Given the description of an element on the screen output the (x, y) to click on. 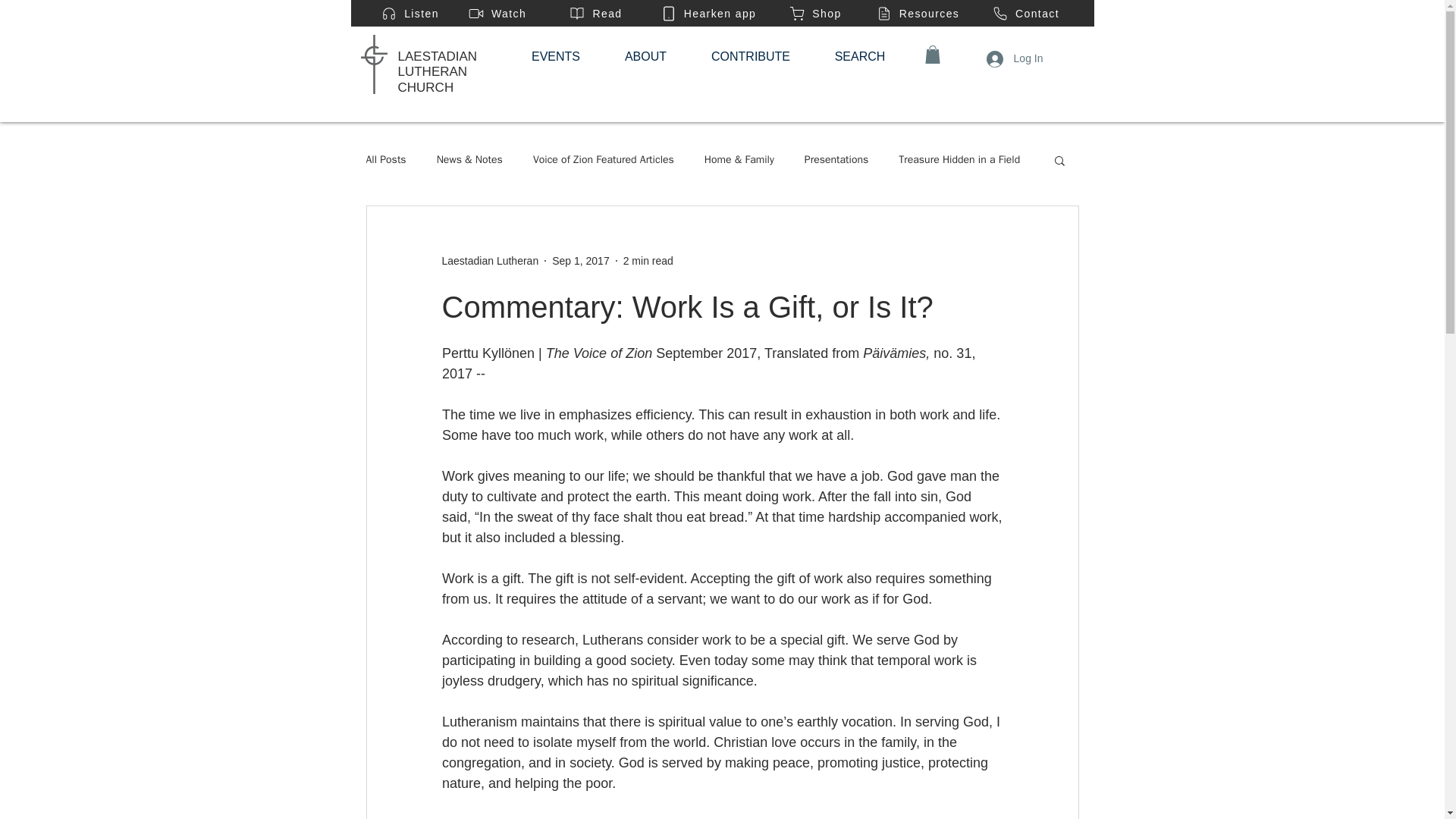
CONTRIBUTE (750, 56)
Presentations (836, 160)
Voice of Zion Featured Articles (603, 160)
Listen (409, 13)
ABOUT (645, 56)
Log In (1014, 58)
CHURCH (424, 87)
Laestadian Lutheran (489, 261)
Contact (1025, 13)
Hearken app (707, 13)
